Given the description of an element on the screen output the (x, y) to click on. 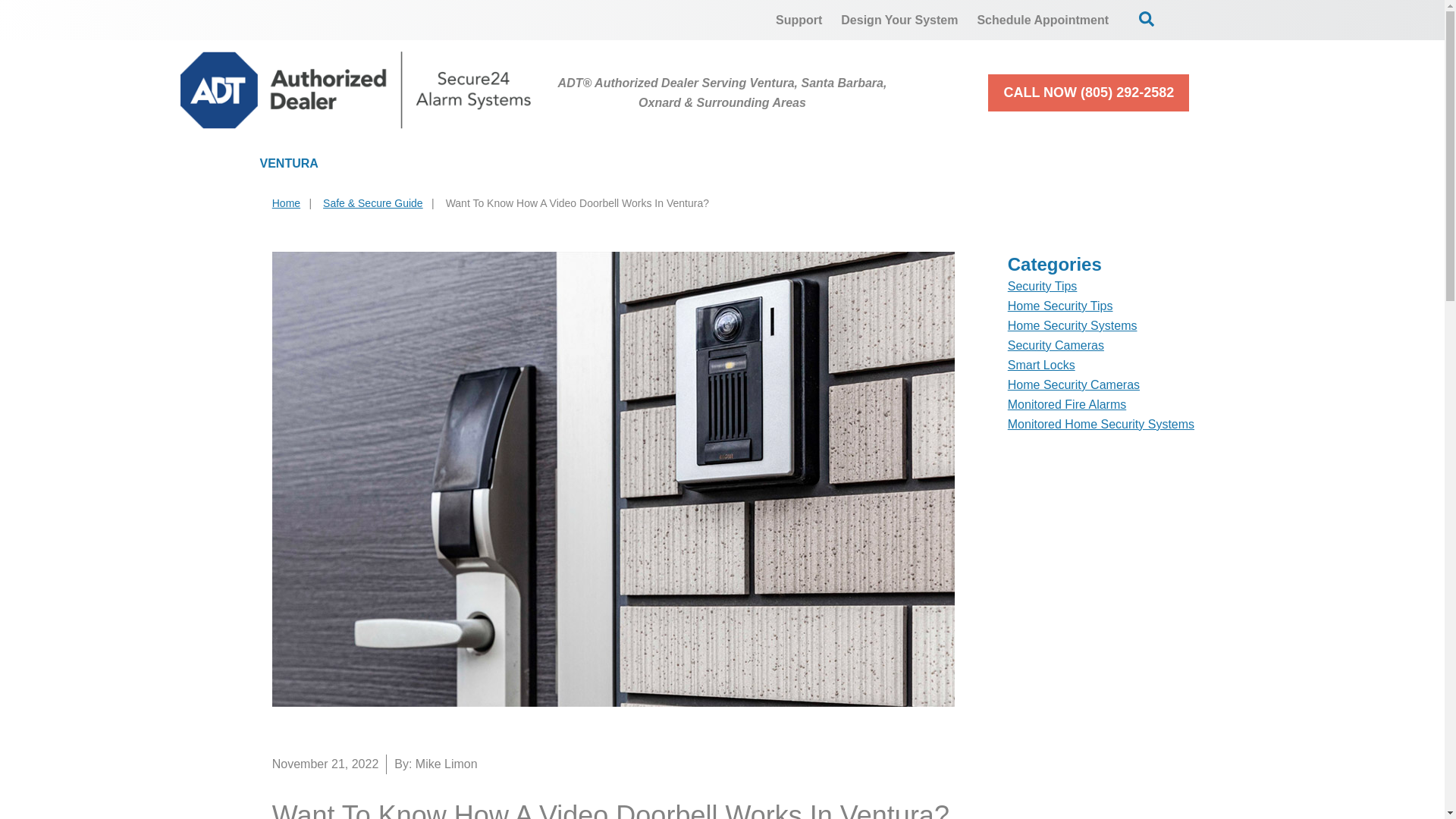
Open Search (1146, 18)
Secure24 Alarm Systems Home (355, 89)
Support (798, 20)
Home Automation (749, 163)
Schedule Appointment (1042, 20)
Design Your System (898, 20)
Home Security (436, 163)
Cameras (588, 163)
